Given the description of an element on the screen output the (x, y) to click on. 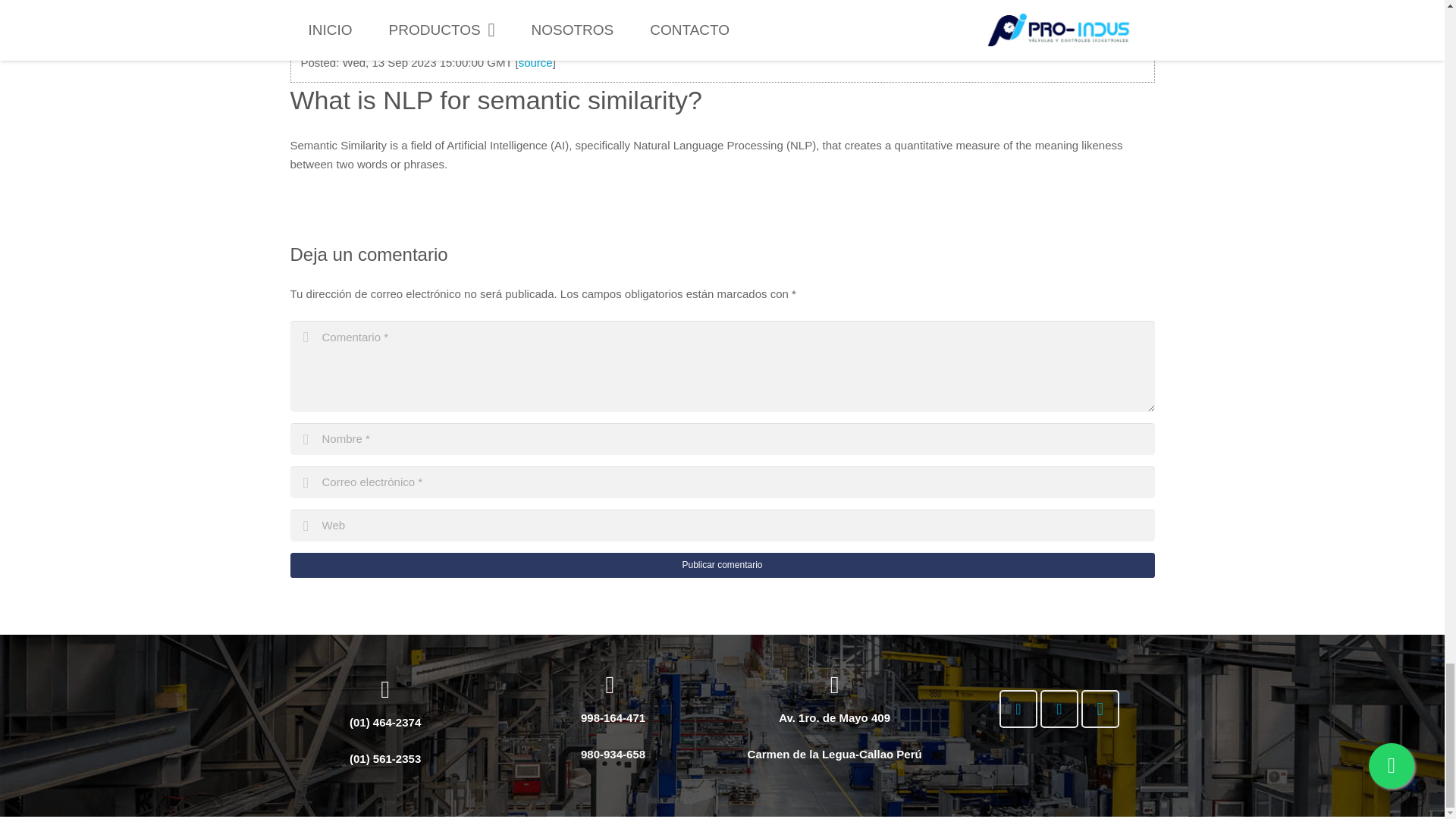
Publicar comentario (721, 565)
